Given the description of an element on the screen output the (x, y) to click on. 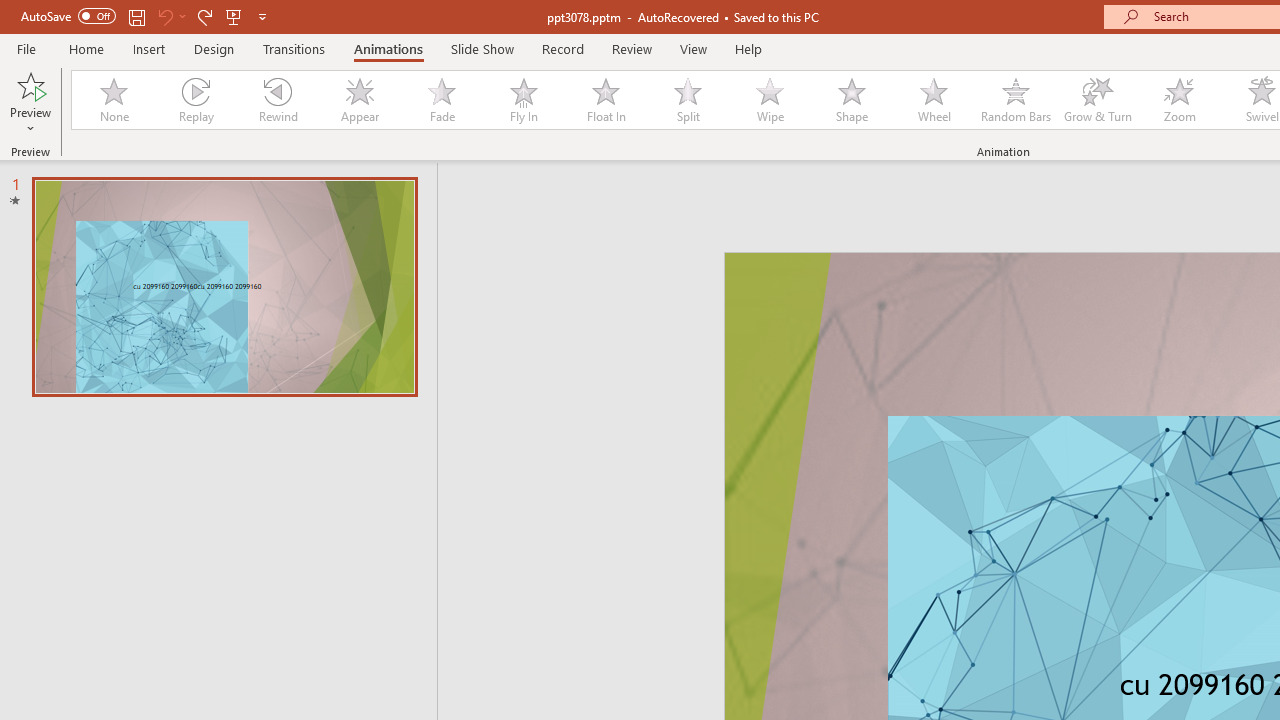
None (113, 100)
Grow & Turn (1098, 100)
Shape (852, 100)
Slide (224, 286)
Wipe (770, 100)
Random Bars (1016, 100)
